Given the description of an element on the screen output the (x, y) to click on. 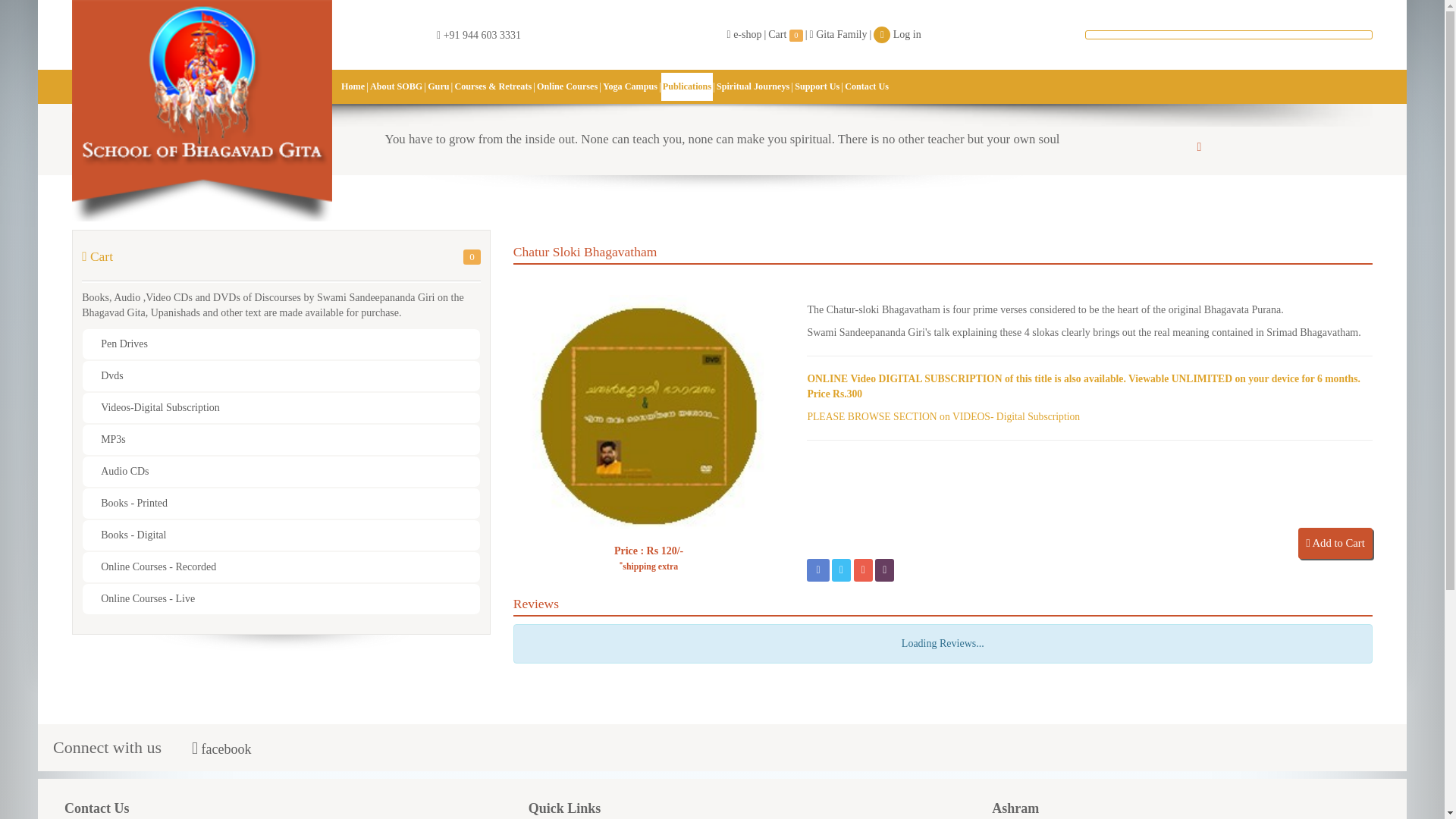
Yoga Campus (630, 86)
Online Courses (566, 86)
Log in (896, 35)
Publications (687, 86)
School Of Bhagavt Gita (201, 110)
Cart 0 (785, 35)
e-shop (743, 35)
Gita Family (838, 35)
About SOBG (395, 86)
